Given the description of an element on the screen output the (x, y) to click on. 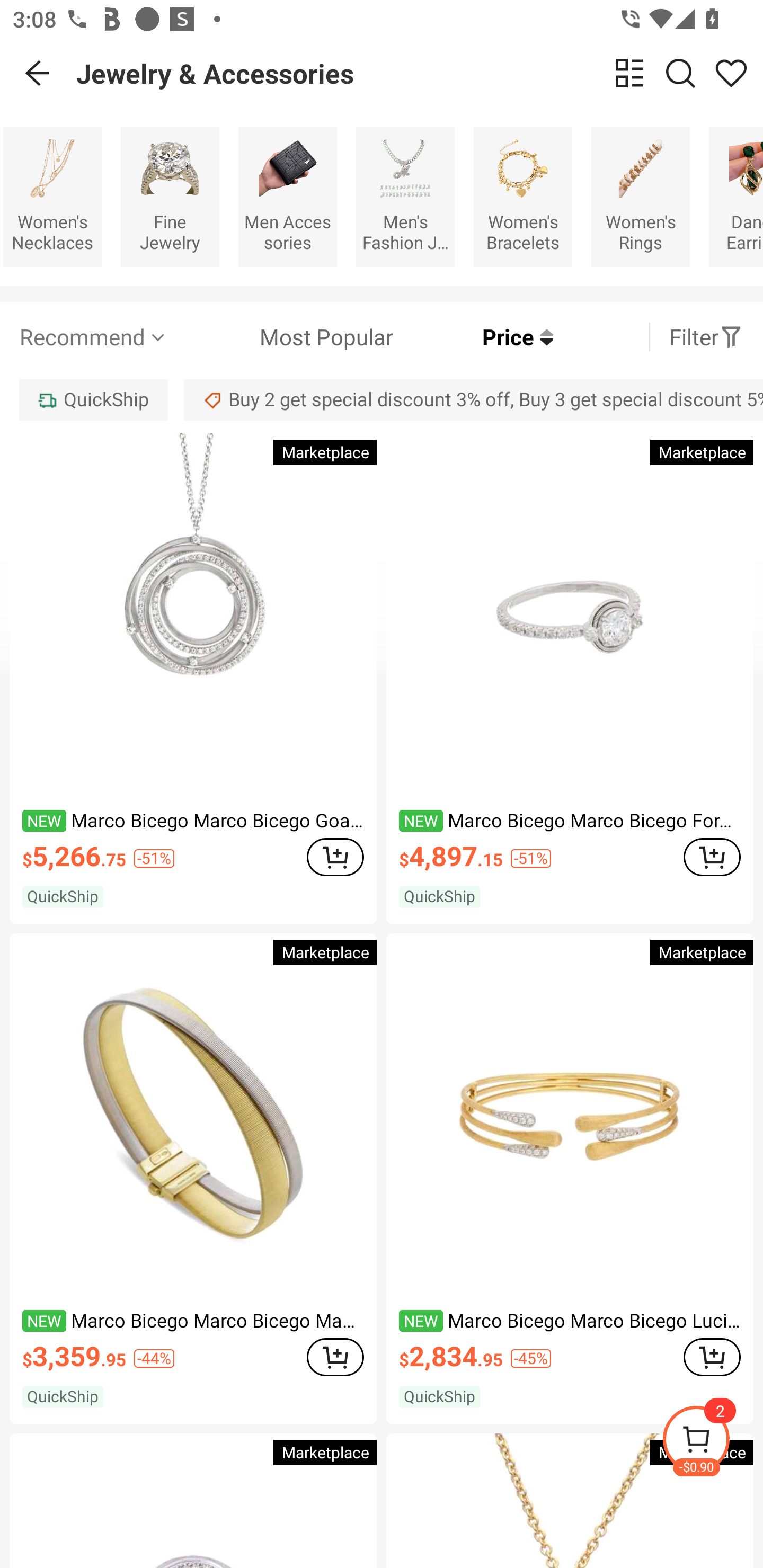
Jewelry & Accessories change view Search Share (419, 72)
change view (629, 72)
Search (679, 72)
Share (730, 72)
Women's Necklaces (52, 196)
Fine Jewelry (169, 196)
Men Accessories (287, 196)
Men's Fashion Jewelry (405, 196)
Women's Bracelets (522, 196)
Women's Rings (640, 196)
Recommend (93, 336)
Most Popular (280, 336)
Price (472, 336)
Filter (705, 336)
QuickShip (93, 399)
ADD TO CART (334, 856)
ADD TO CART (711, 856)
ADD TO CART (334, 1356)
ADD TO CART (711, 1356)
-$0.90 (712, 1441)
